Given the description of an element on the screen output the (x, y) to click on. 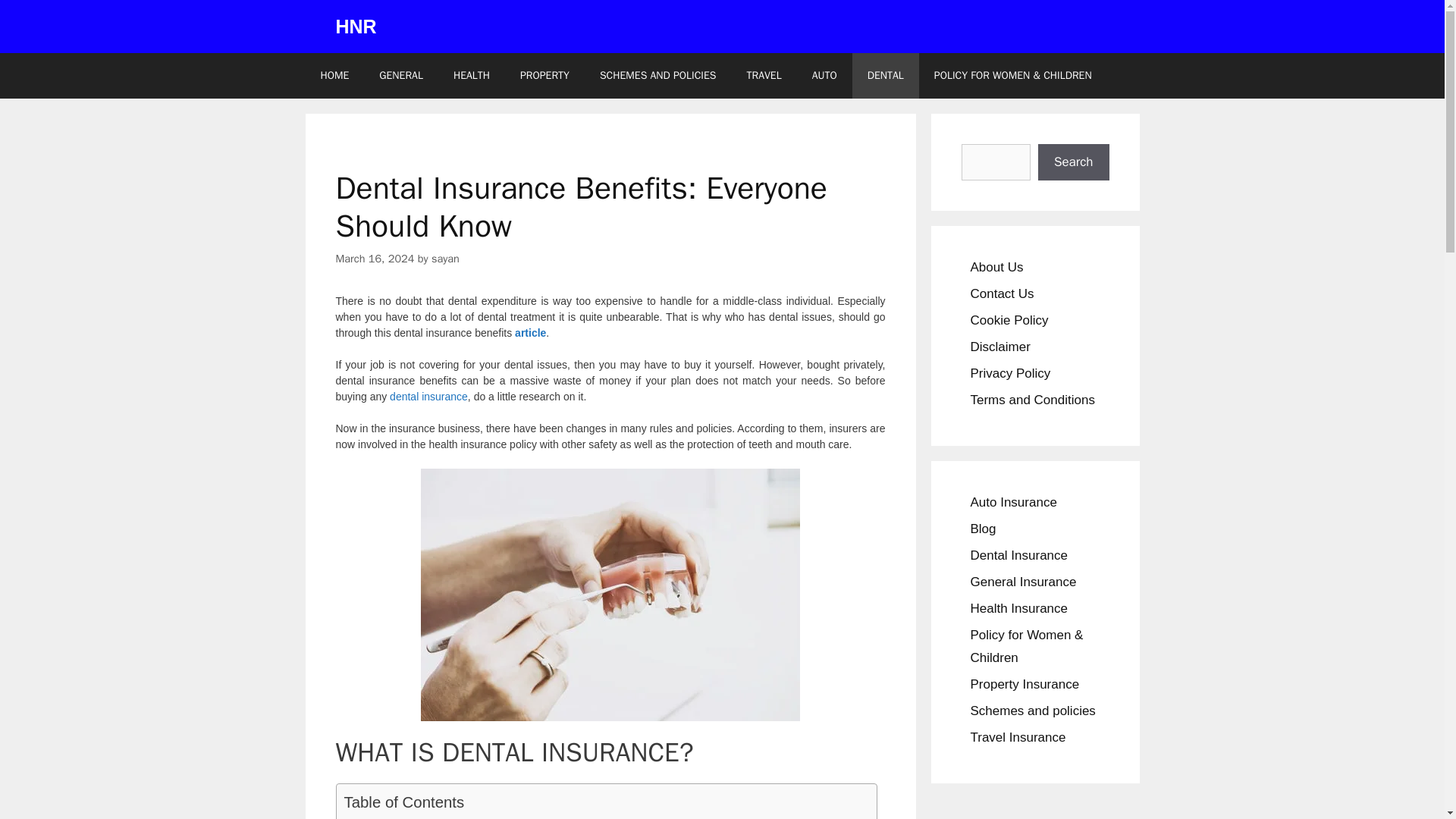
Cookie Policy (1009, 319)
HEALTH (471, 75)
Disclaimer (1000, 346)
AUTO (823, 75)
dental insurance (428, 396)
DENTAL (884, 75)
TRAVEL (763, 75)
GENERAL (401, 75)
HOME (334, 75)
View all posts by sayan (445, 258)
Contact Us (1002, 293)
SCHEMES AND POLICIES (658, 75)
PROPERTY (545, 75)
HNR (354, 25)
sayan (445, 258)
